Given the description of an element on the screen output the (x, y) to click on. 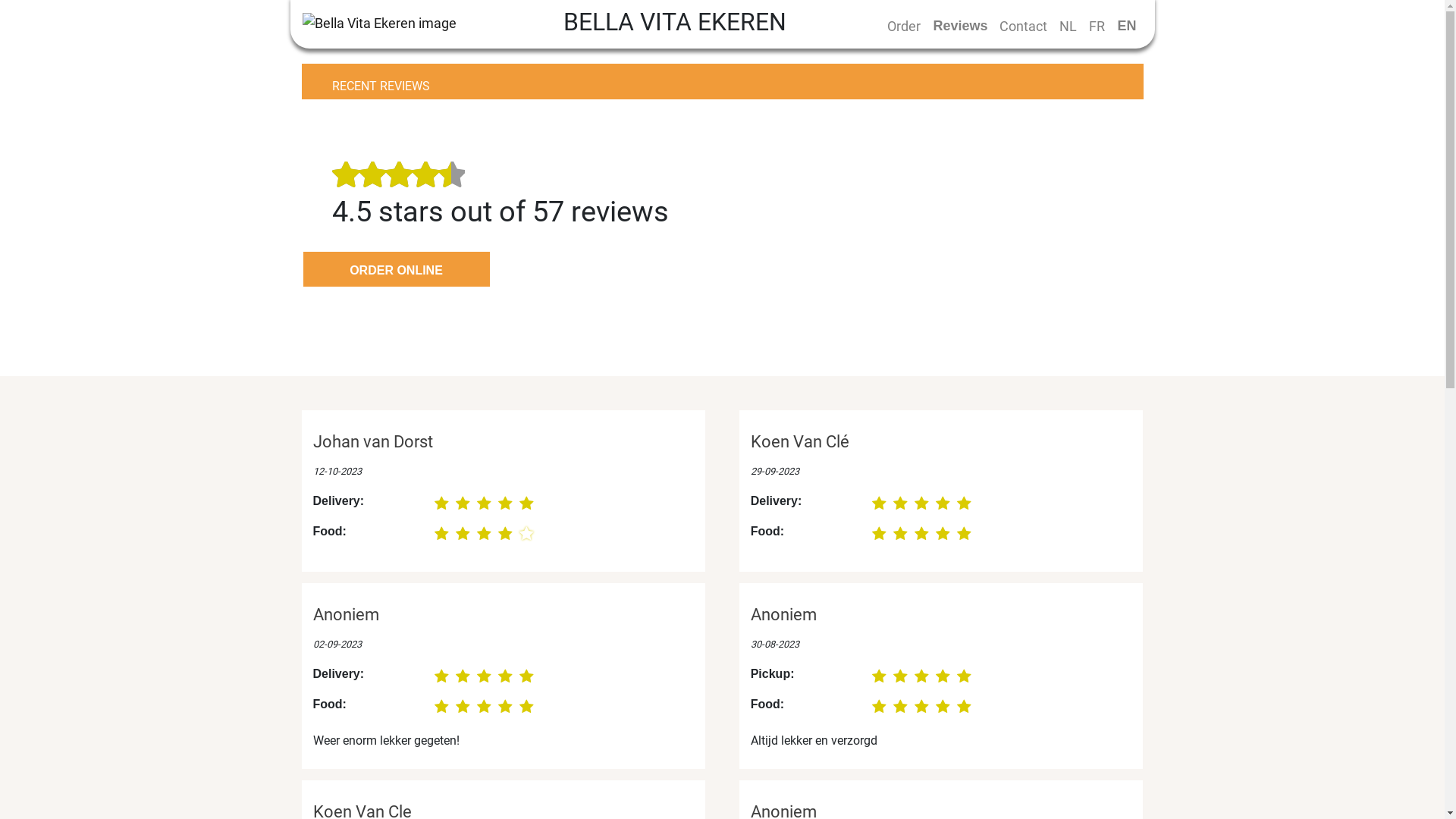
Contact Element type: text (1023, 25)
EN Element type: text (1126, 25)
NL Element type: text (1067, 25)
FR Element type: text (1096, 25)
Order Element type: text (903, 25)
Reviews Element type: text (959, 25)
ORDER ONLINE Element type: text (396, 269)
